Given the description of an element on the screen output the (x, y) to click on. 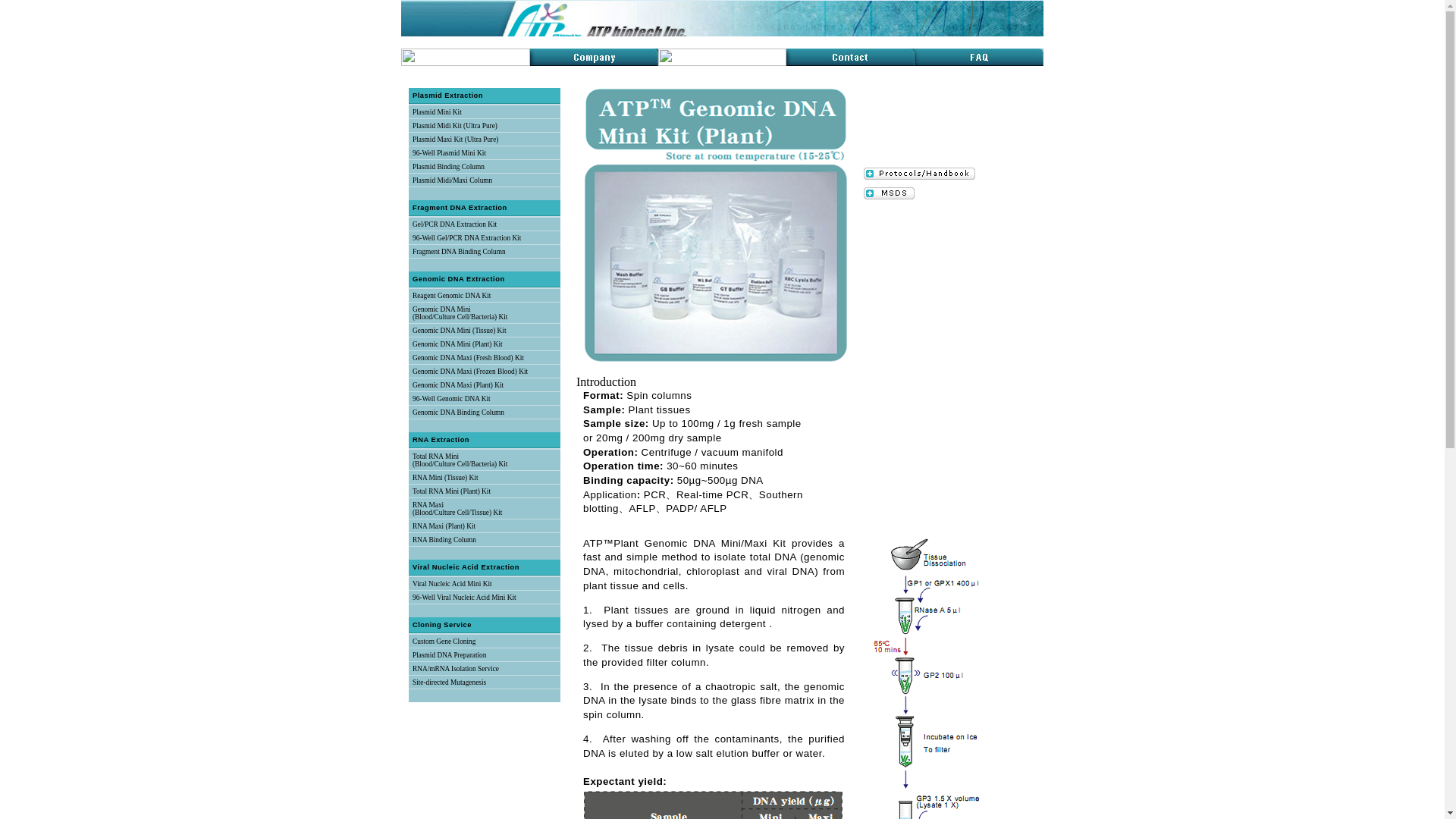
Reagent Genomic DNA Kit (451, 295)
96-Well Viral Nucleic Acid Mini Kit (464, 597)
Plasmid Mini Kit (436, 112)
96-Well Genomic DNA Kit (451, 398)
Plasmid DNA Preparation (449, 655)
Fragment DNA Binding Column (458, 251)
Genomic DNA Binding Column (457, 412)
96-Well Plasmid Mini Kit (449, 153)
Viral Nucleic Acid Mini Kit (452, 583)
RNA Binding Column (444, 539)
